Given the description of an element on the screen output the (x, y) to click on. 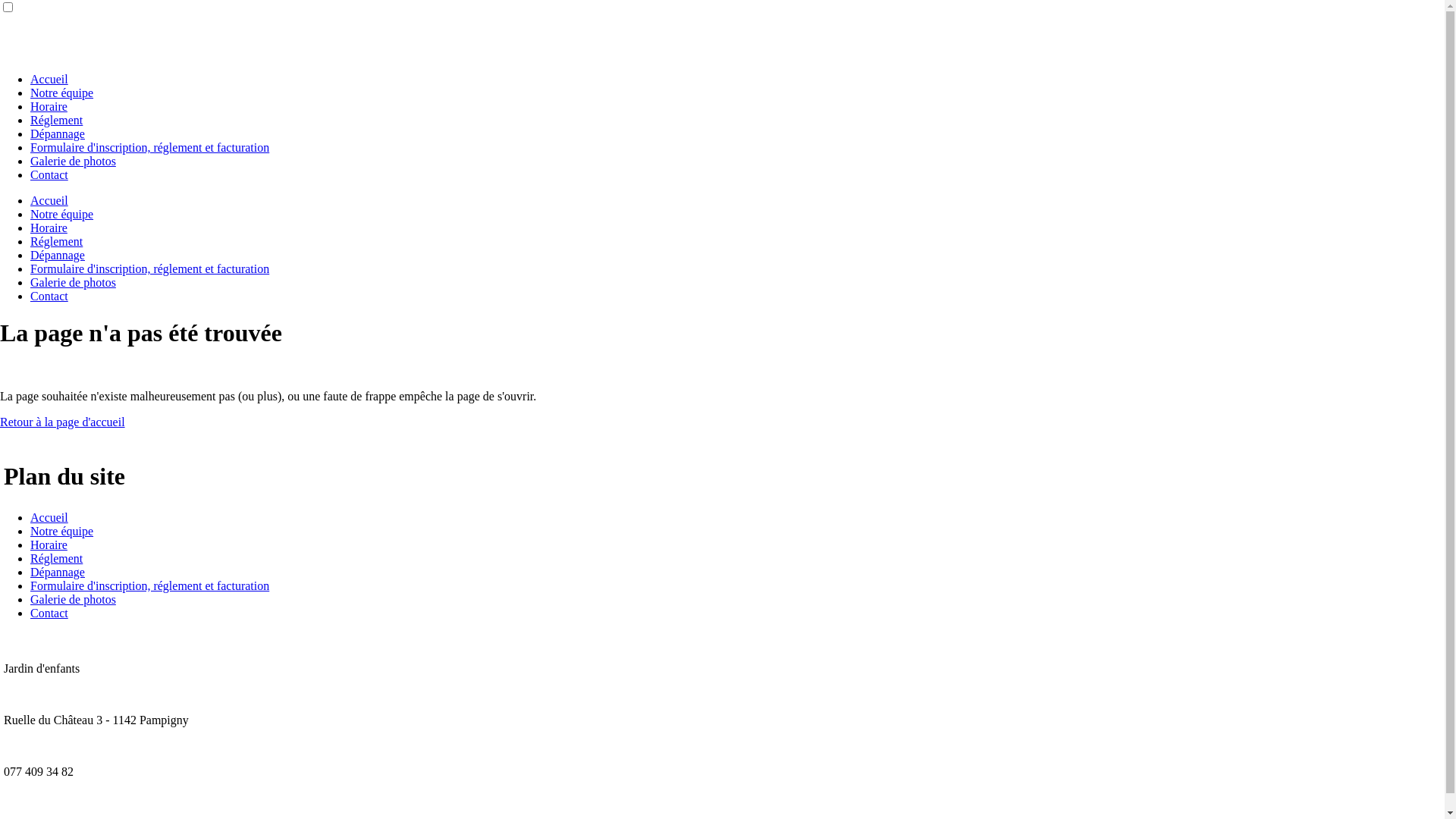
Horaire Element type: text (48, 227)
Contact Element type: text (49, 174)
Accueil Element type: text (49, 517)
Galerie de photos Element type: text (73, 599)
Contact Element type: text (49, 295)
Galerie de photos Element type: text (73, 282)
Horaire Element type: text (48, 106)
Accueil Element type: text (49, 200)
Accueil Element type: text (49, 78)
Horaire Element type: text (48, 544)
Galerie de photos Element type: text (73, 160)
Contact Element type: text (49, 612)
